Given the description of an element on the screen output the (x, y) to click on. 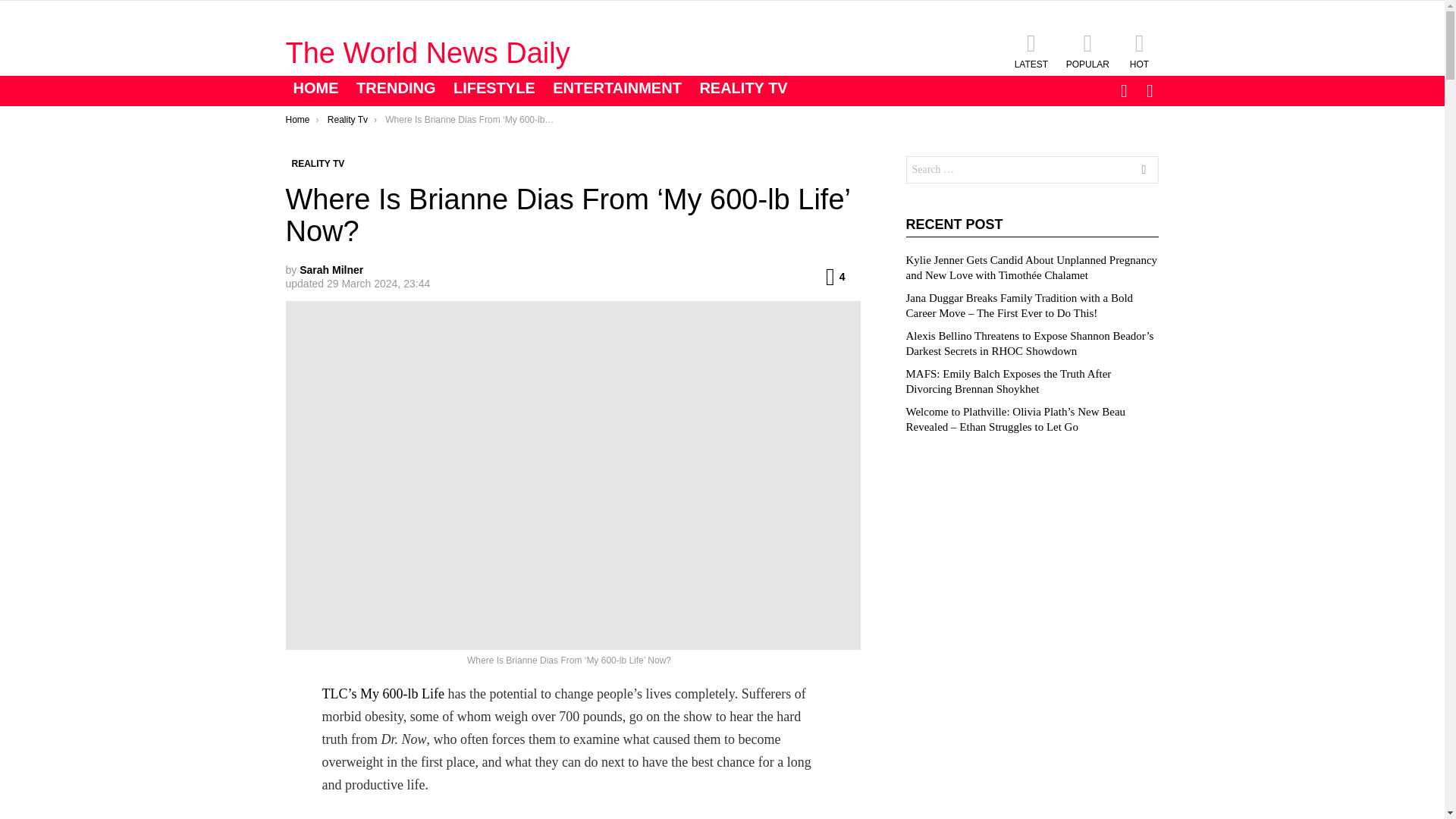
HOME (315, 87)
Reality Tv (347, 119)
REALITY TV (742, 87)
Home (296, 119)
TRENDING (395, 87)
LIFESTYLE (494, 87)
The World News Daily (427, 52)
LATEST (1031, 50)
POPULAR (1087, 50)
HOT (1138, 50)
